Given the description of an element on the screen output the (x, y) to click on. 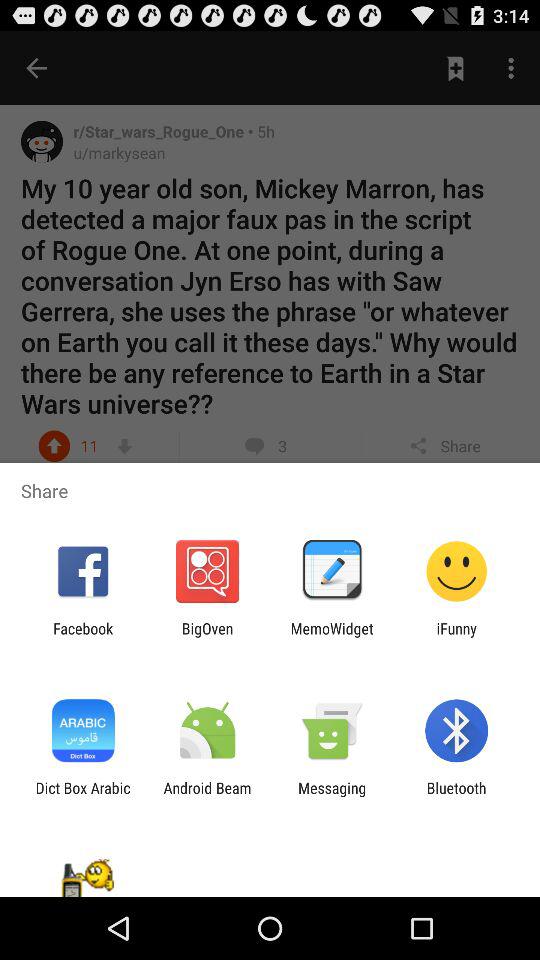
click app next to ifunny icon (331, 637)
